Given the description of an element on the screen output the (x, y) to click on. 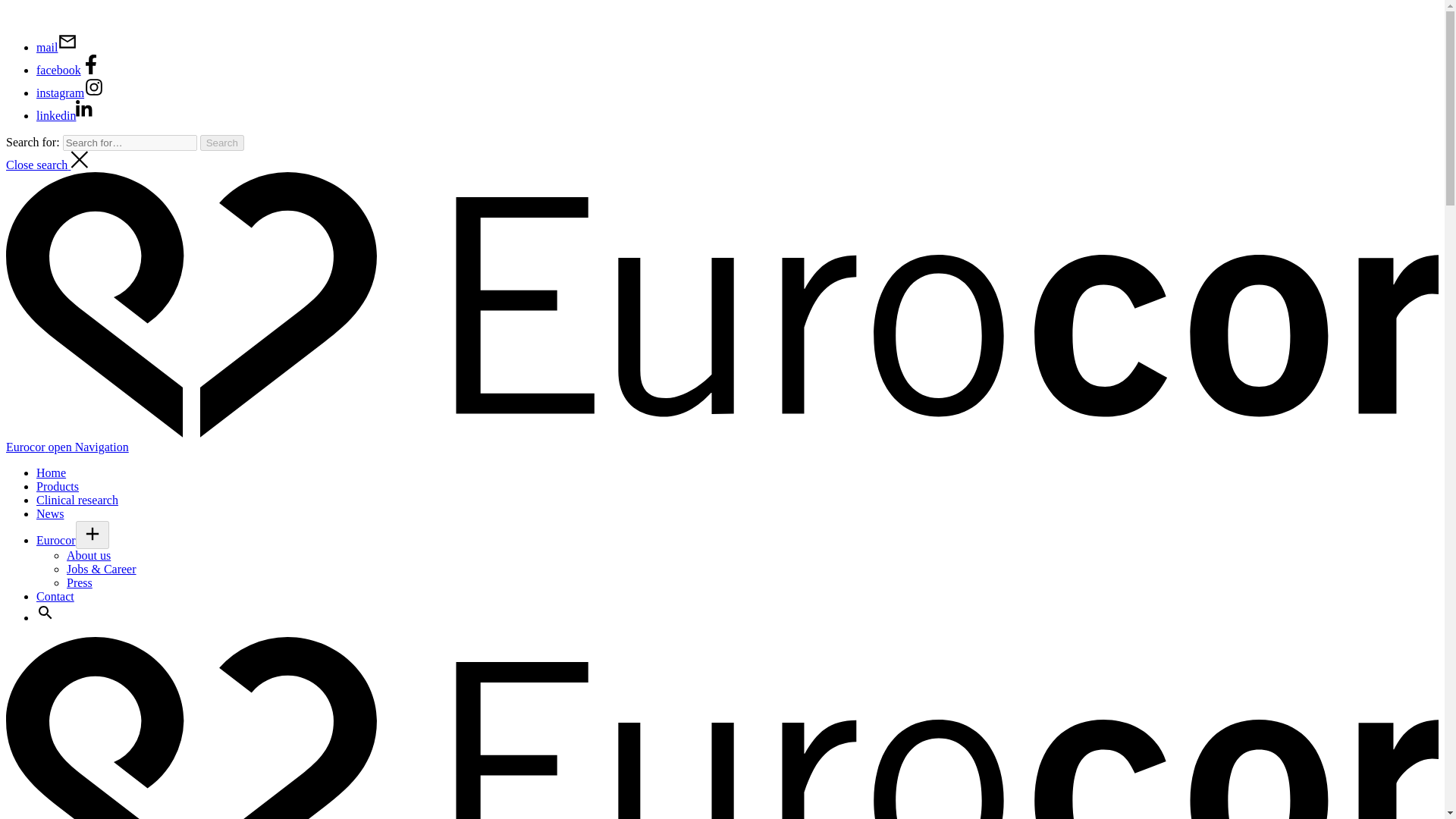
Eurocor (55, 540)
facebook (68, 69)
Home (50, 472)
Home (50, 472)
Contact (55, 595)
open Navigation (88, 446)
Products (57, 486)
Press (79, 582)
linkedin (66, 115)
Close search (46, 164)
